Given the description of an element on the screen output the (x, y) to click on. 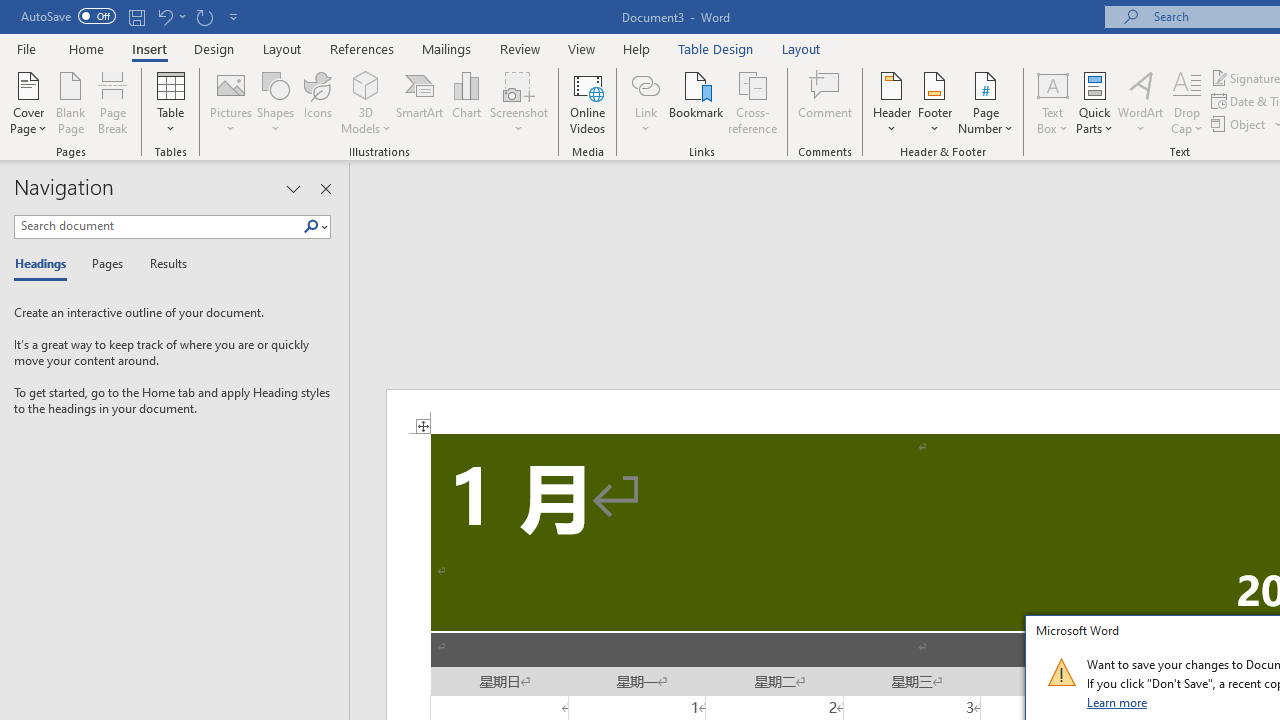
WordArt (1141, 102)
Icons (317, 102)
Screenshot (518, 102)
Footer (934, 102)
Cover Page (28, 102)
Bookmark... (695, 102)
Pictures (230, 102)
